Given the description of an element on the screen output the (x, y) to click on. 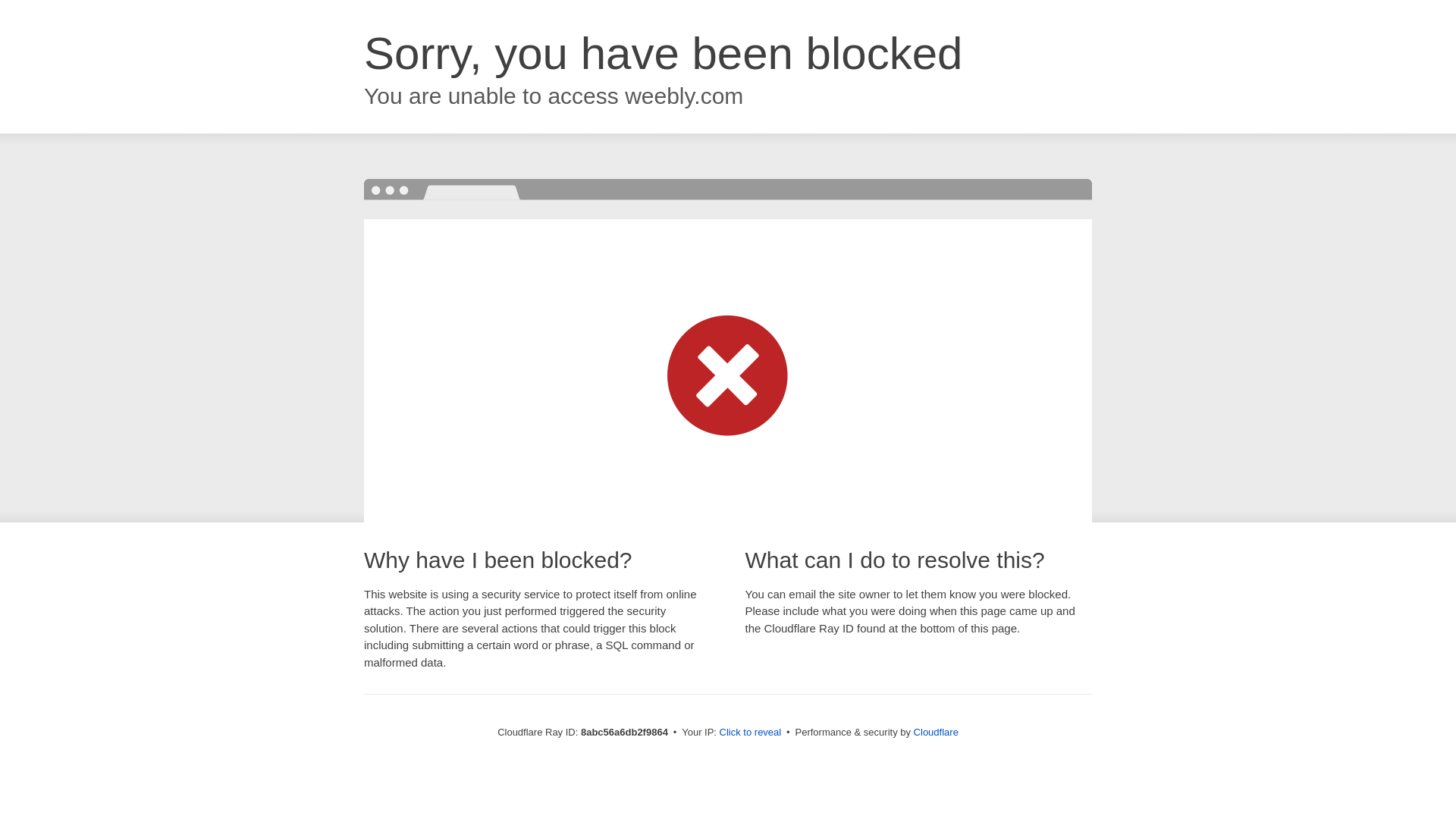
Click to reveal (750, 732)
Cloudflare (936, 731)
